Given the description of an element on the screen output the (x, y) to click on. 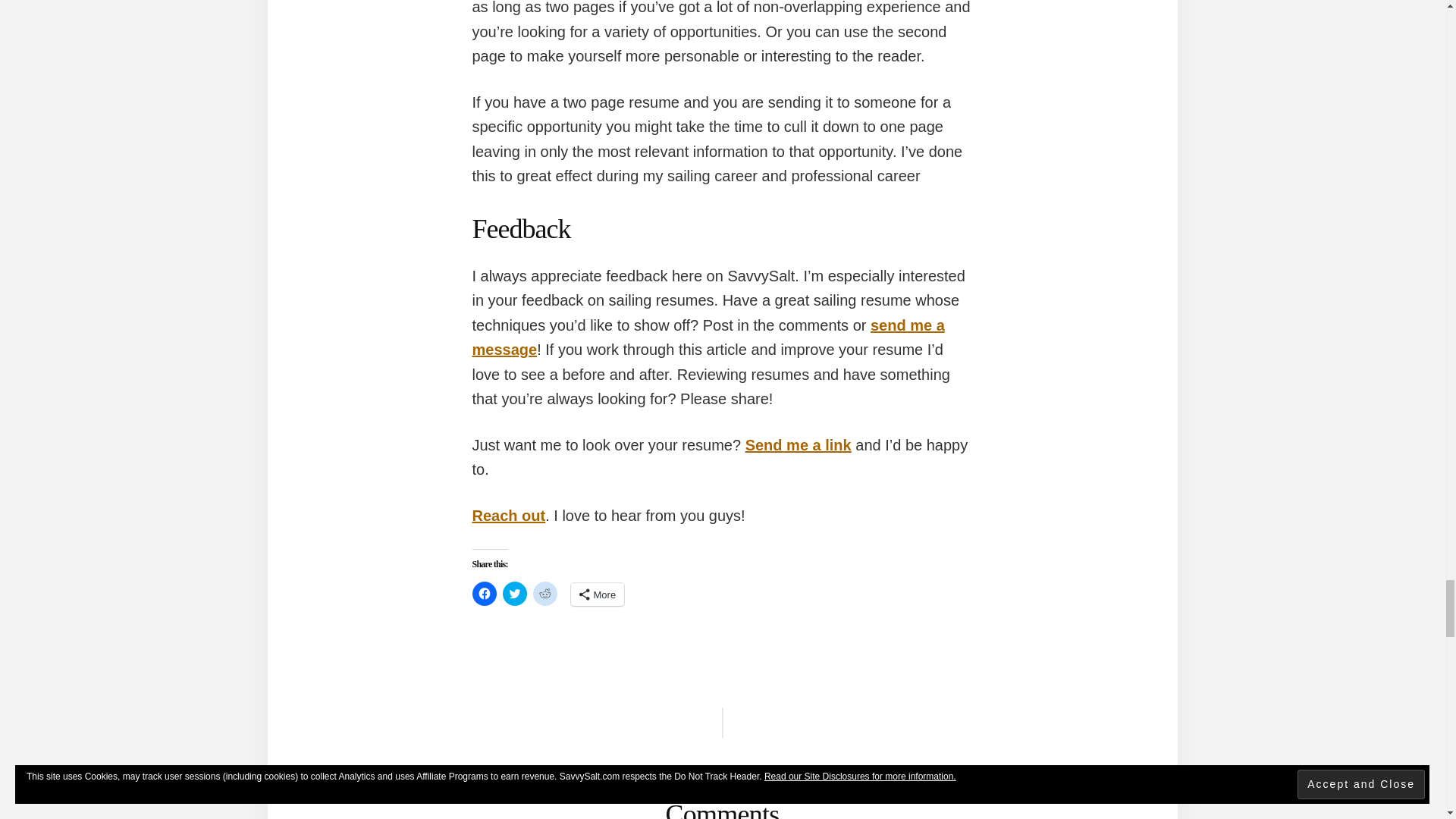
Click to share on Twitter (513, 593)
More (597, 594)
Click to share on Facebook (483, 593)
Click to share on Reddit (544, 593)
send me a message (707, 337)
Reach out (507, 515)
Send me a link (798, 444)
